Given the description of an element on the screen output the (x, y) to click on. 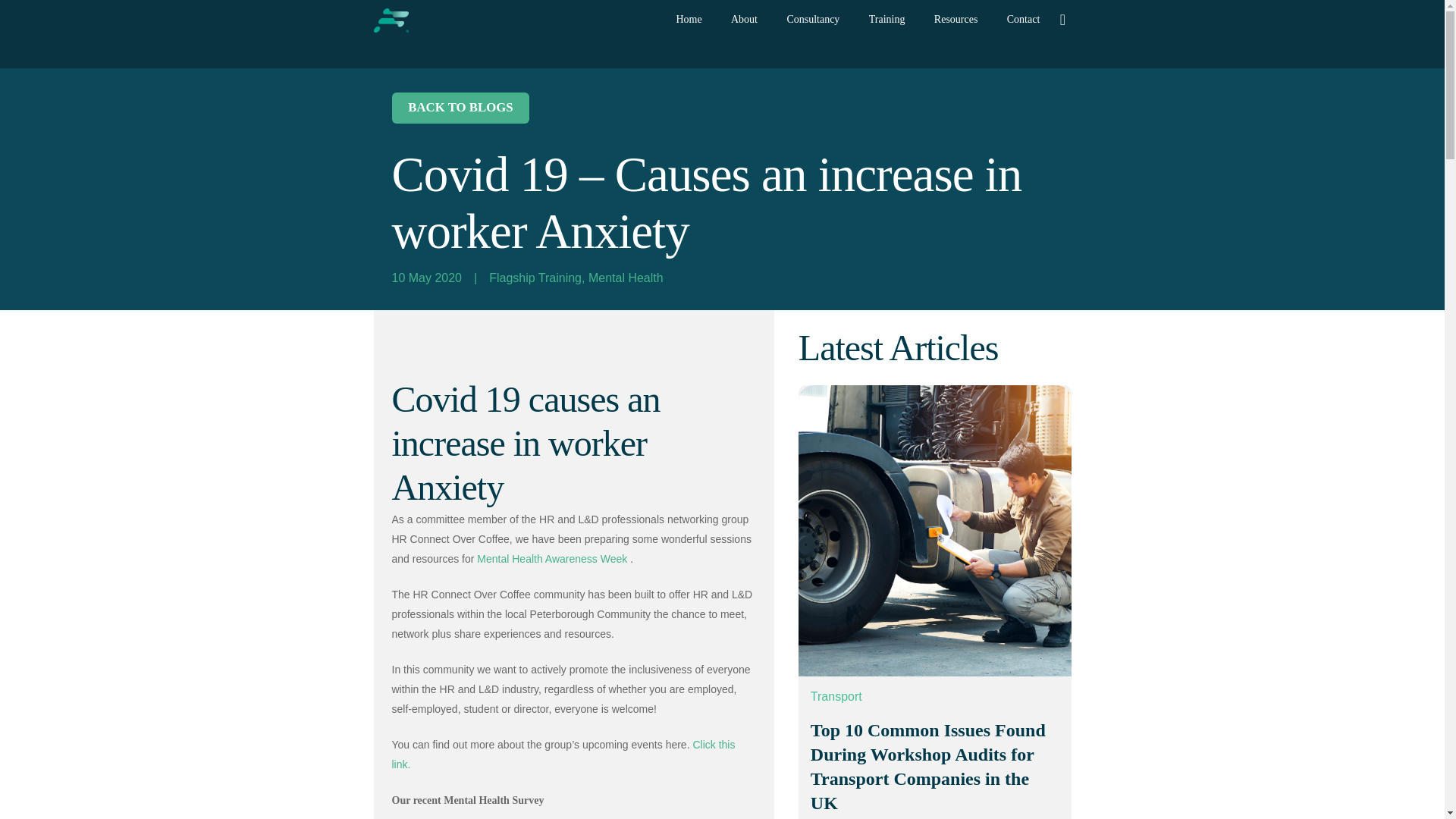
About (743, 19)
Flag Ship Partners (688, 19)
Contact Us (1023, 19)
About Us (743, 19)
Consultancy (812, 19)
Training (887, 19)
Resources (956, 19)
Home (688, 19)
Training (887, 19)
Consultancy (812, 19)
